Given the description of an element on the screen output the (x, y) to click on. 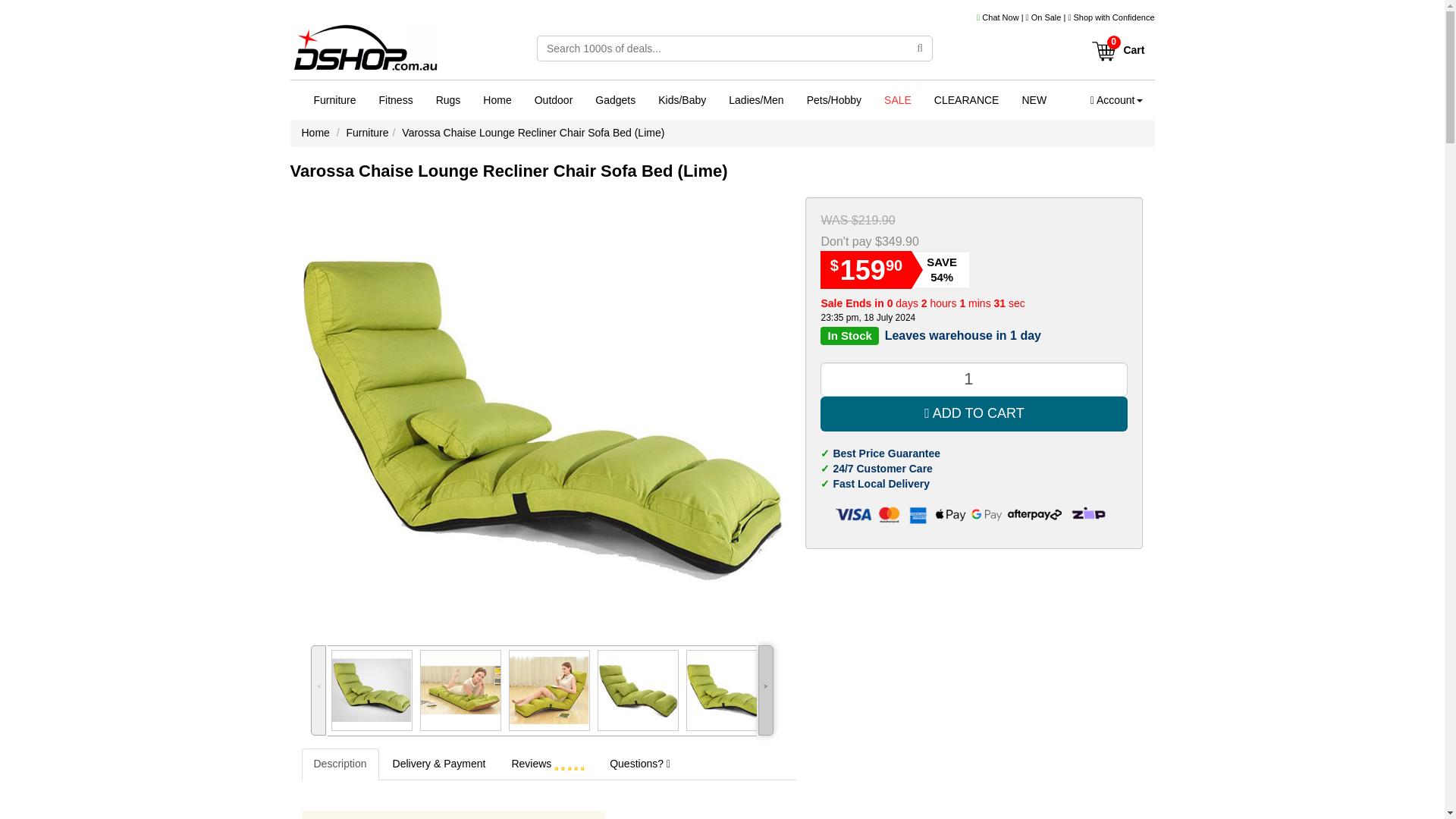
Dshop (364, 51)
Search (920, 48)
0 Cart (1117, 45)
Shop with Confidence (1113, 17)
 Chat Now (998, 17)
Add to Cart (973, 413)
Furniture (333, 99)
On Sale (1045, 17)
1 (973, 379)
